Given the description of an element on the screen output the (x, y) to click on. 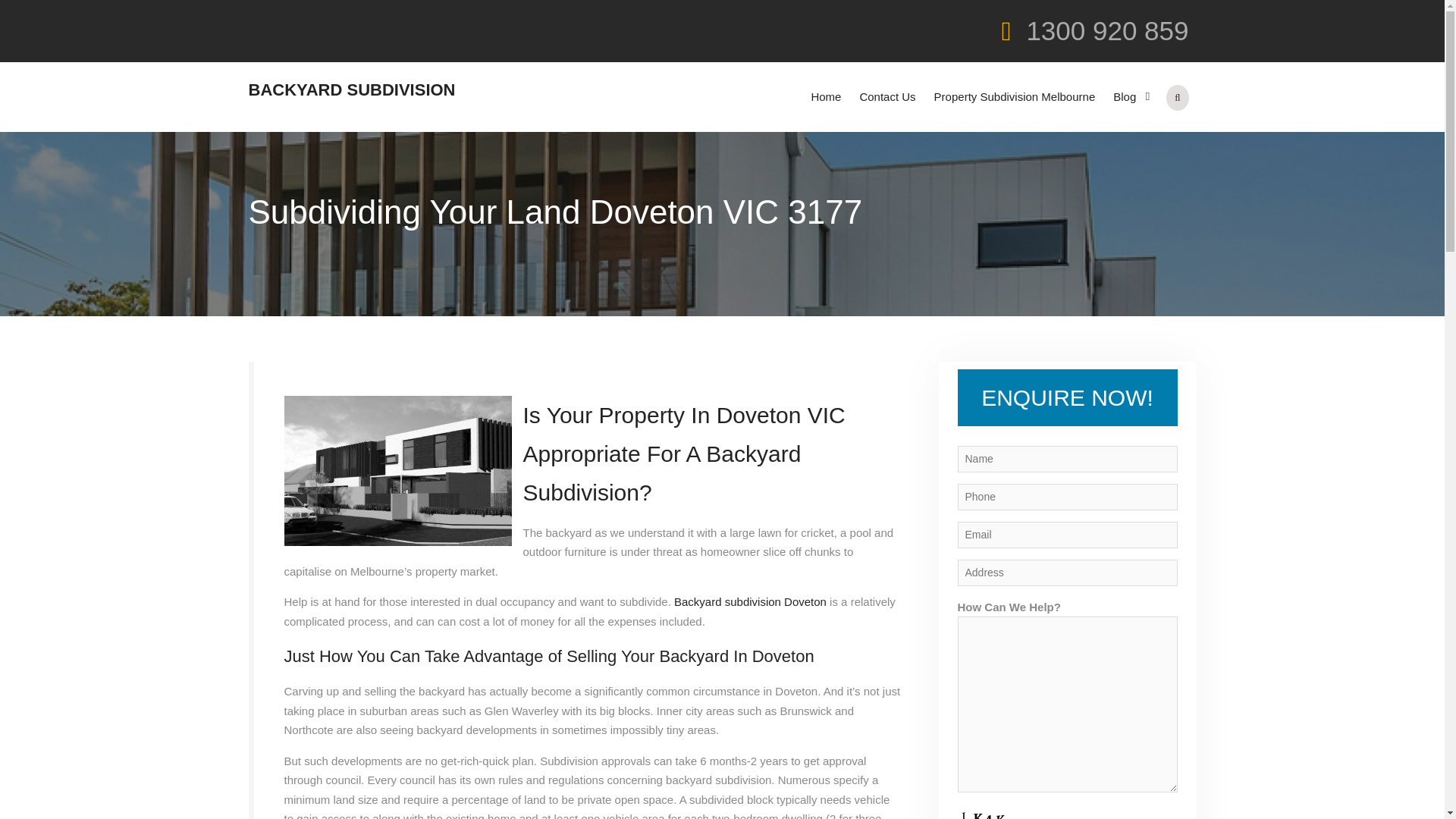
1300 920 859 (1107, 30)
Property Subdivision Melbourne (1014, 96)
Contact Us (887, 96)
BACKYARD SUBDIVISION (351, 89)
Blog (1128, 96)
Backyard subdivision Doveton (750, 601)
